Given the description of an element on the screen output the (x, y) to click on. 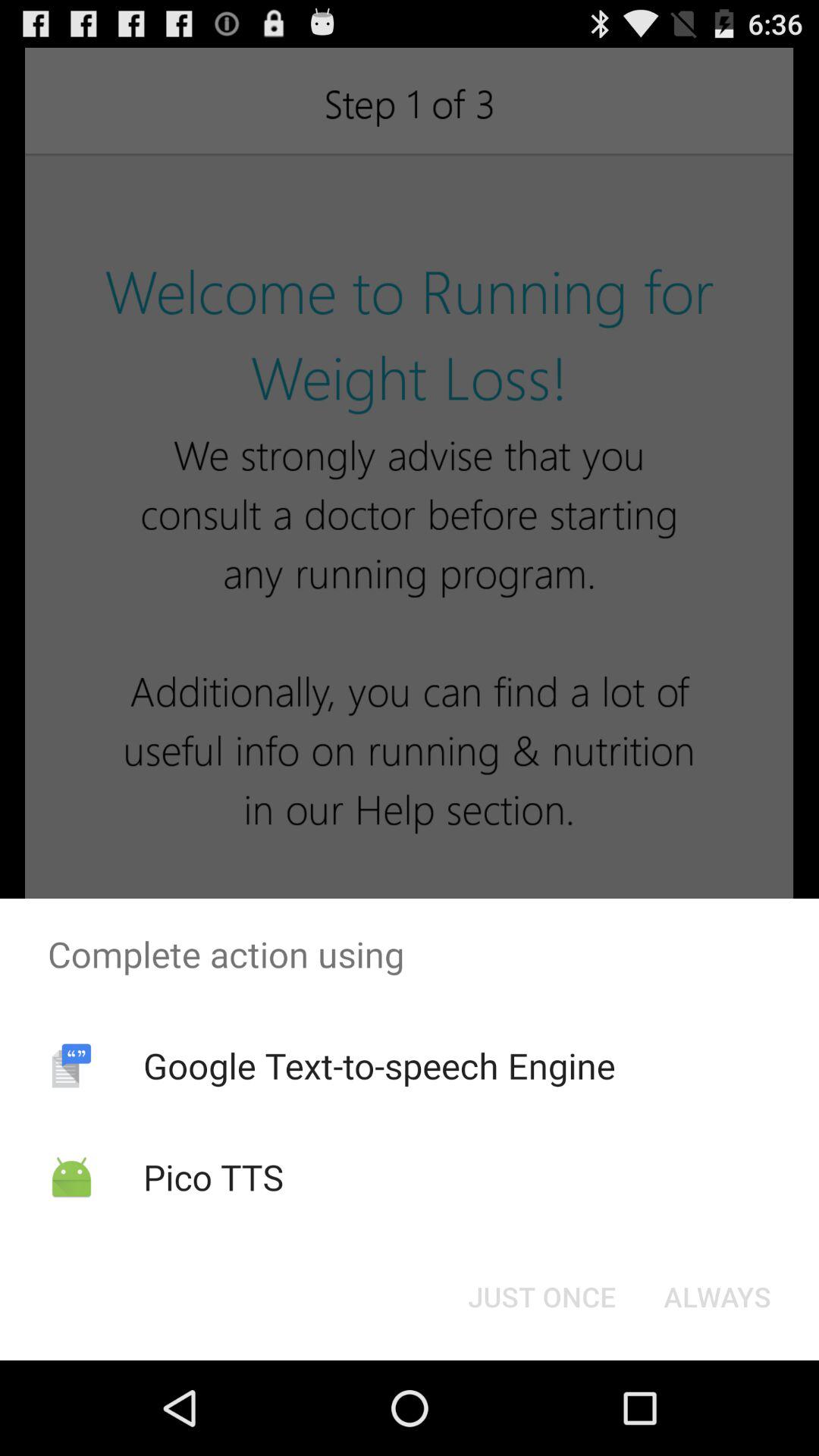
launch app below google text to icon (541, 1296)
